Given the description of an element on the screen output the (x, y) to click on. 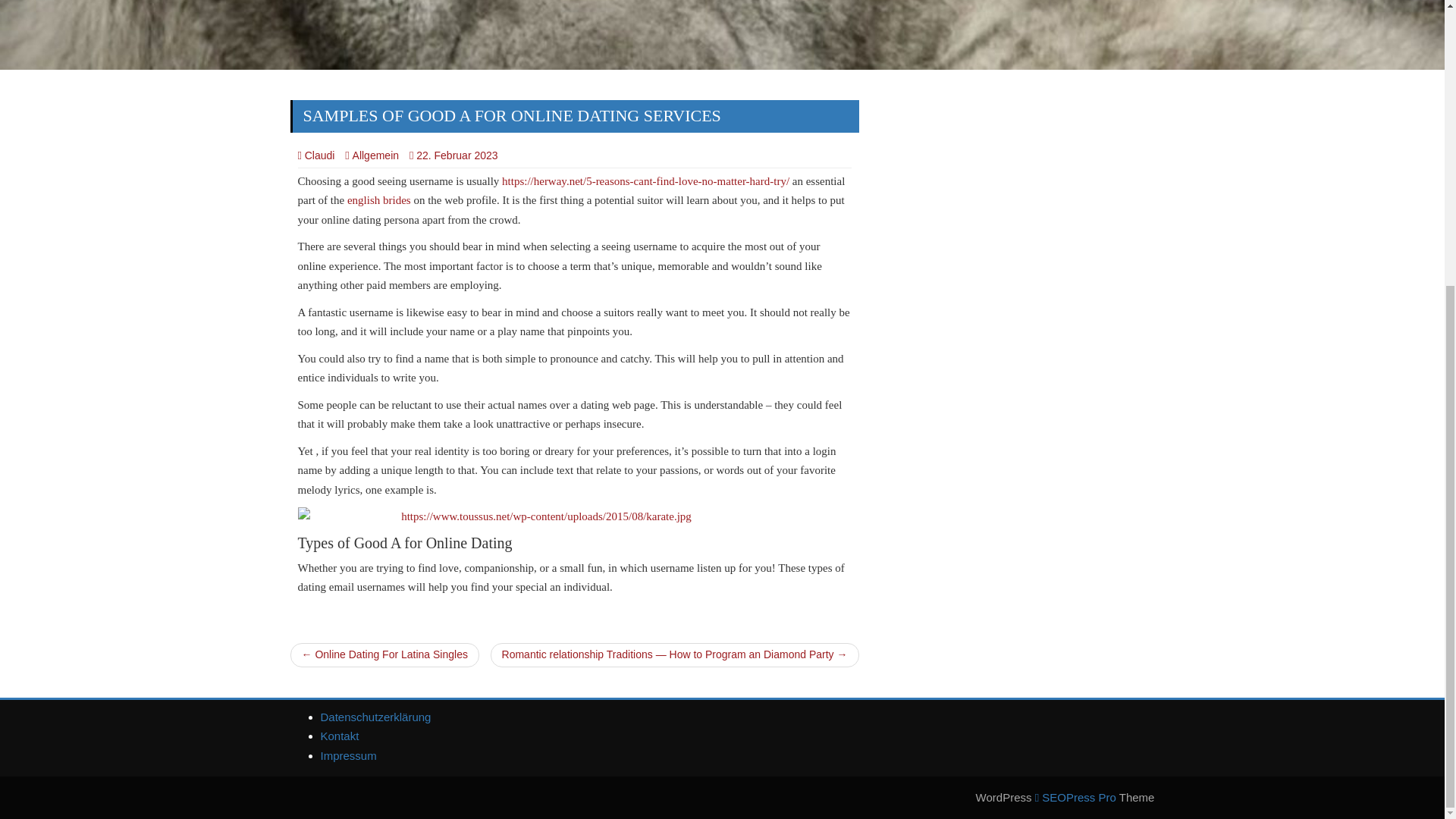
Allgemein (371, 155)
Kontakt (339, 735)
SEOPress Pro (1075, 797)
22. Februar 2023 (457, 155)
Impressum (347, 755)
Claudi (315, 155)
english brides (378, 200)
